Given the description of an element on the screen output the (x, y) to click on. 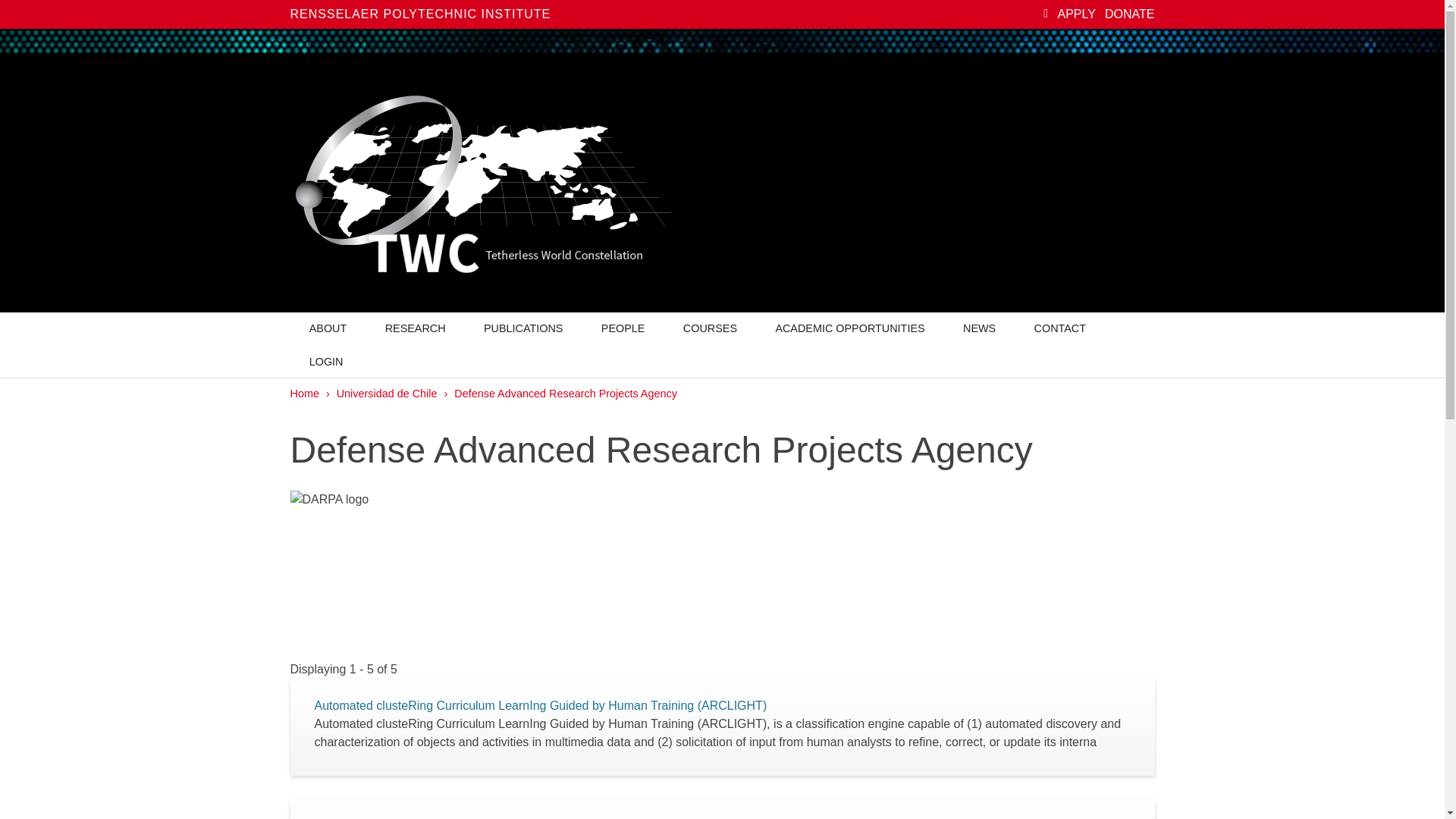
LOGIN (325, 360)
ABOUT (327, 328)
PEOPLE (622, 328)
NEWS (978, 328)
CONTACT (1059, 328)
DONATE (1129, 13)
RENSSELAER POLYTECHNIC INSTITUTE (419, 13)
COURSES (710, 328)
APPLY (1075, 13)
